Given the description of an element on the screen output the (x, y) to click on. 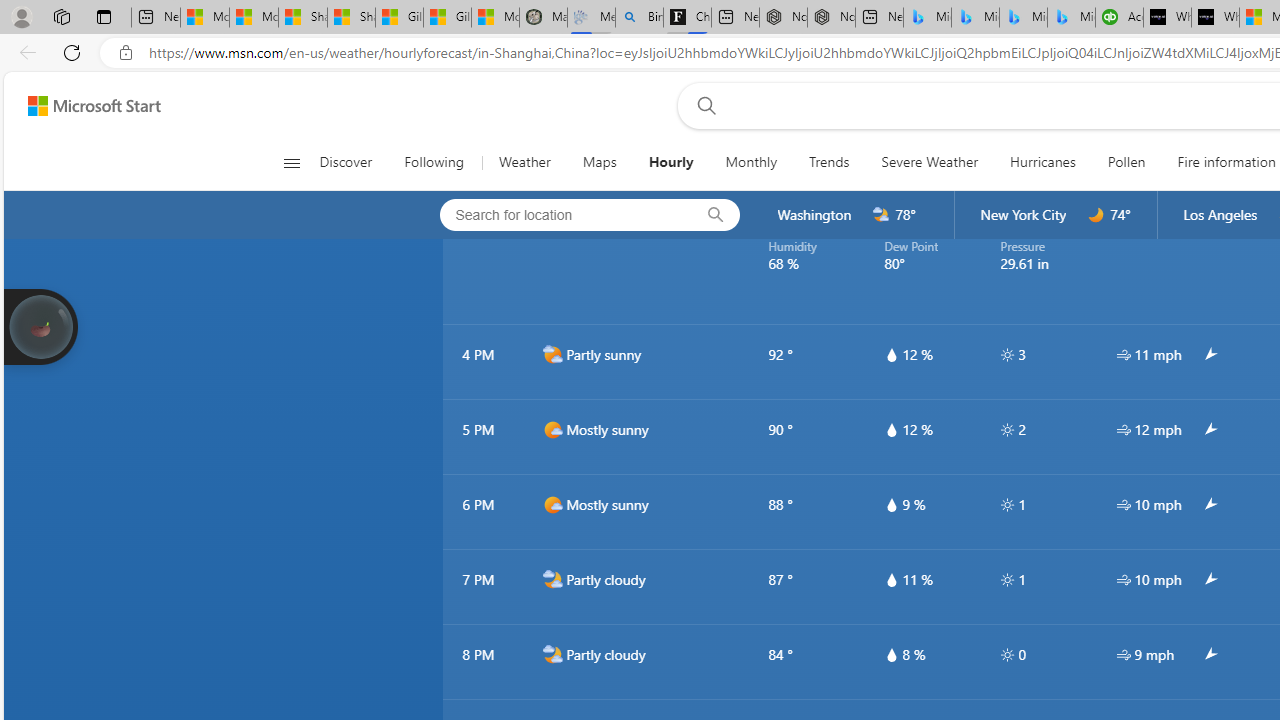
Monthly (751, 162)
n0000 (1096, 215)
Monthly (751, 162)
Severe Weather (929, 162)
Maps (599, 162)
d2000 (552, 354)
